Given the description of an element on the screen output the (x, y) to click on. 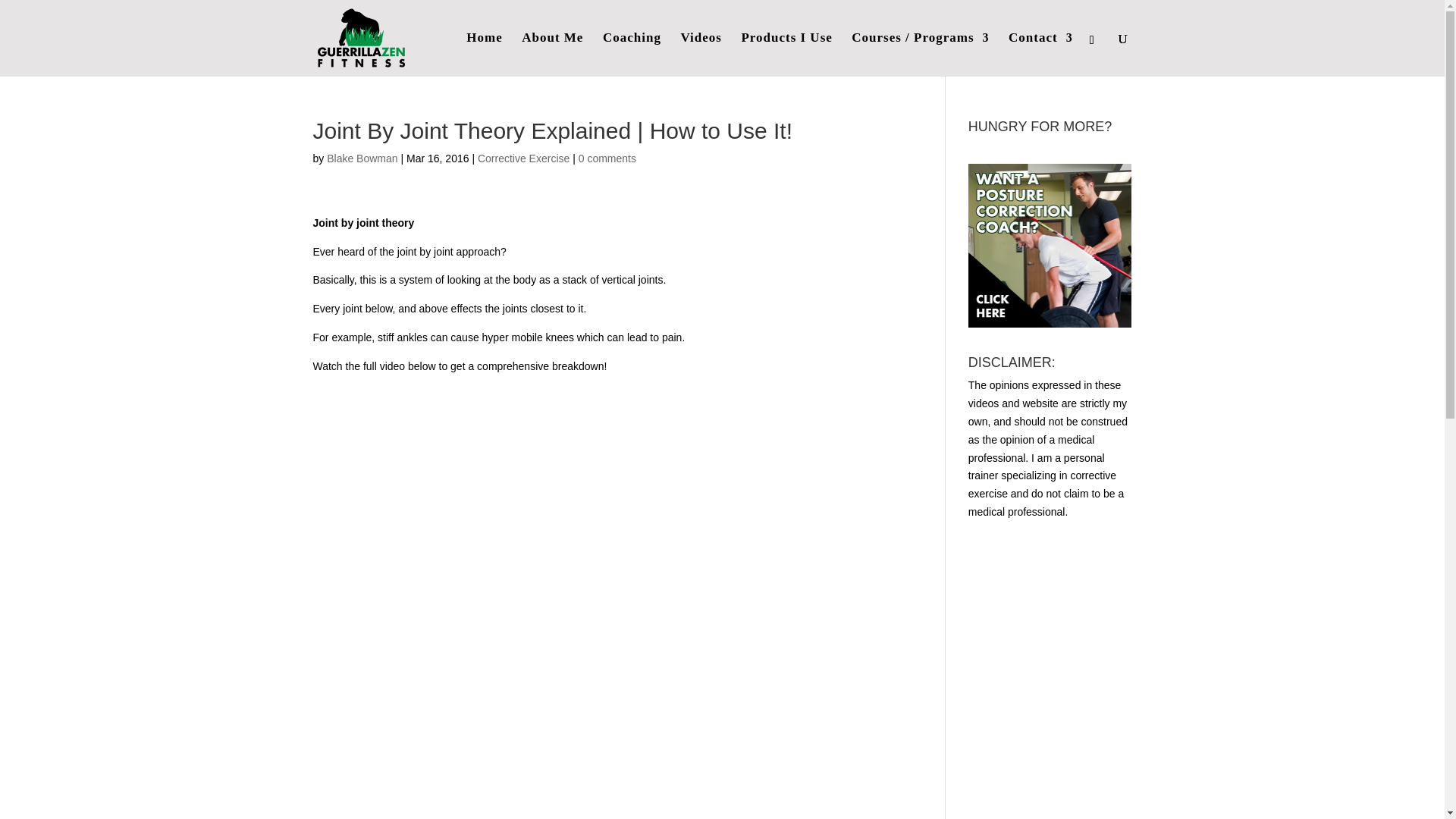
Contact (1041, 54)
Products I Use (786, 54)
0 comments (607, 158)
Videos (700, 54)
Coaching (631, 54)
Posts by Blake Bowman (361, 158)
Blake Bowman (361, 158)
About Me (552, 54)
Corrective Exercise (523, 158)
